Given the description of an element on the screen output the (x, y) to click on. 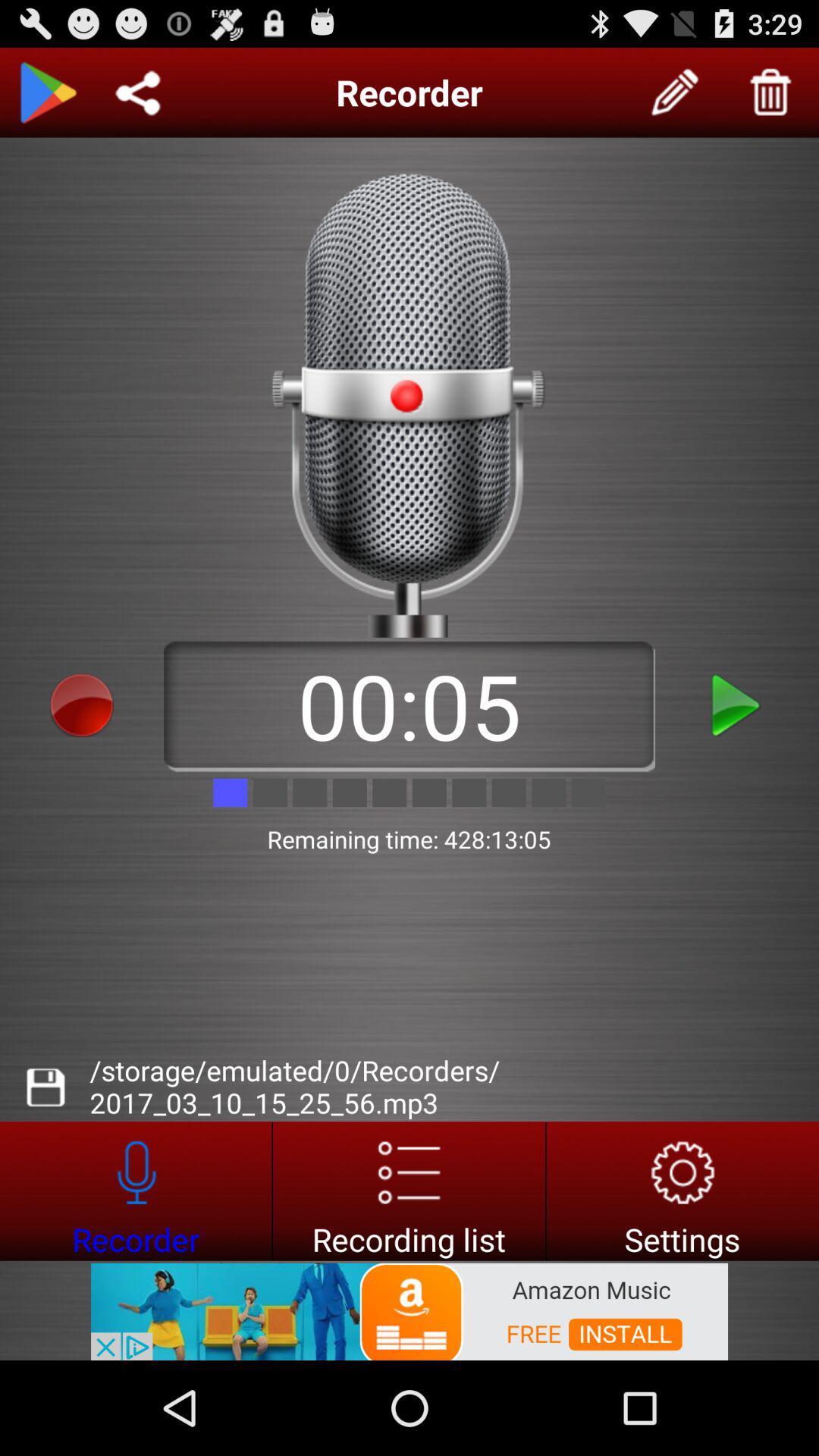
settings (682, 1190)
